Given the description of an element on the screen output the (x, y) to click on. 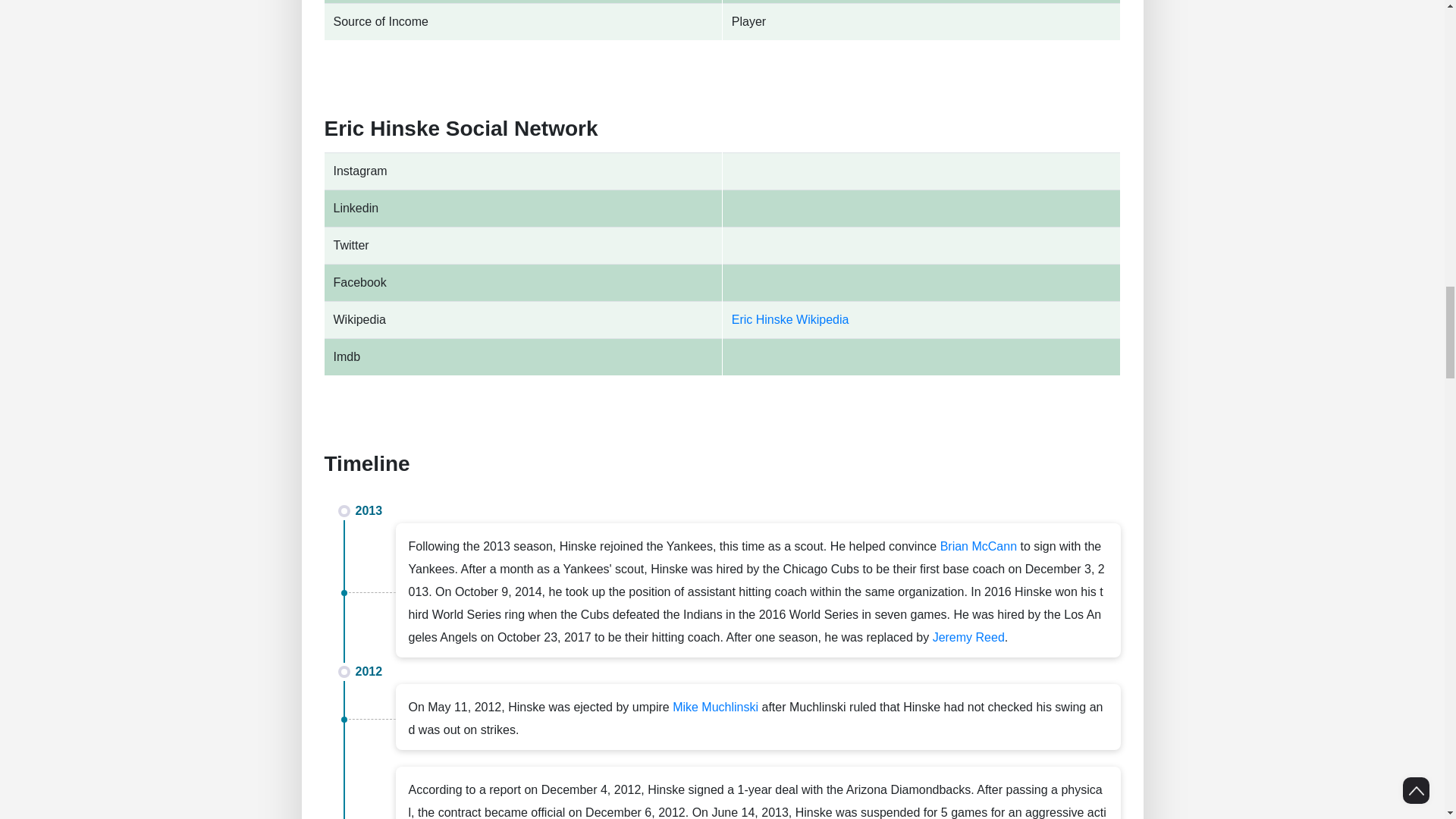
Brian McCann (978, 545)
Eric Hinske Wikipedia (790, 318)
Jeremy Reed (968, 636)
Mike Muchlinski (715, 707)
